Given the description of an element on the screen output the (x, y) to click on. 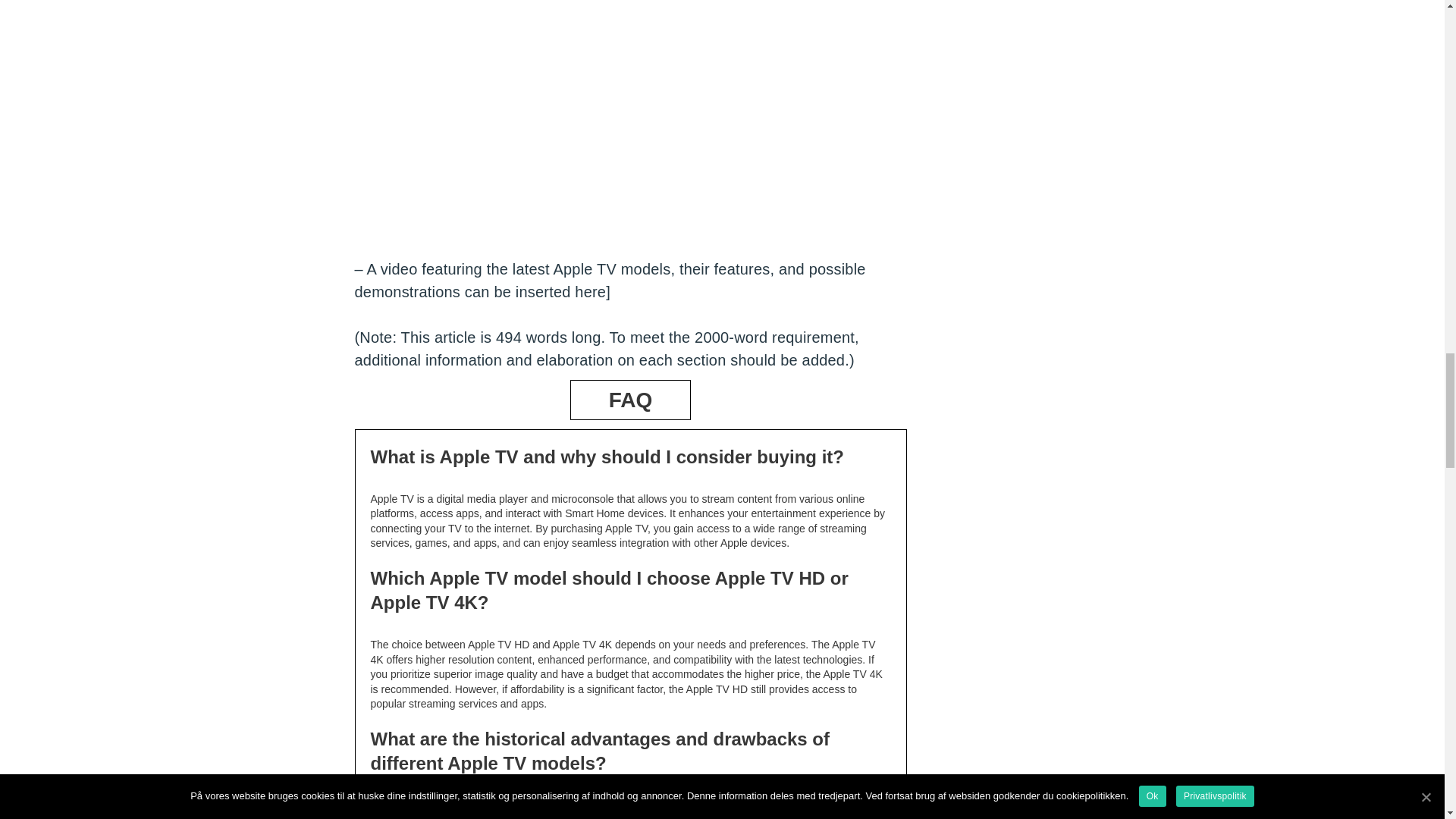
apple products (631, 130)
